Given the description of an element on the screen output the (x, y) to click on. 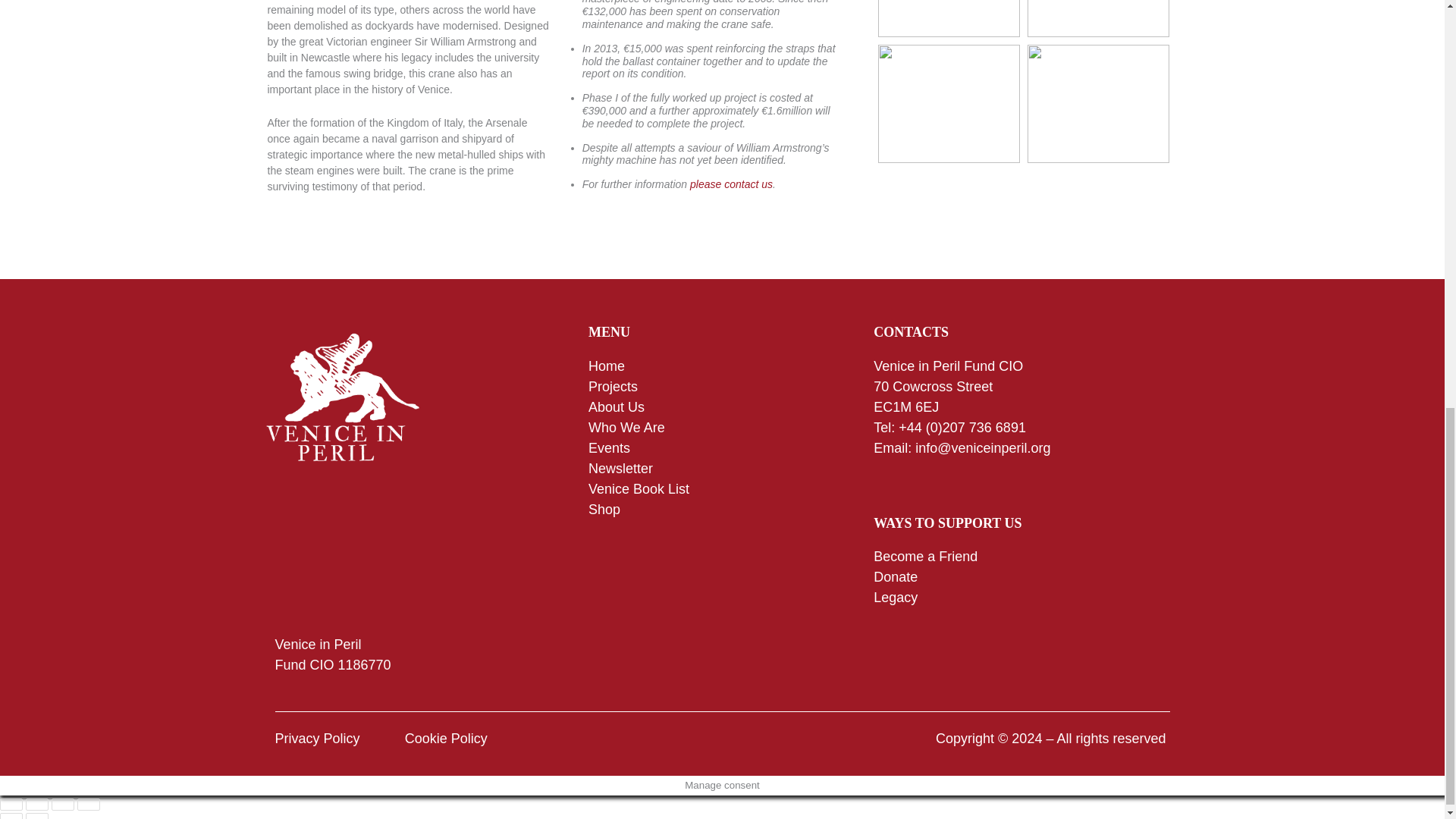
Home (606, 365)
Events (609, 447)
Who We Are (626, 427)
Projects  (615, 386)
About Us (616, 406)
please contact us (731, 184)
